Given the description of an element on the screen output the (x, y) to click on. 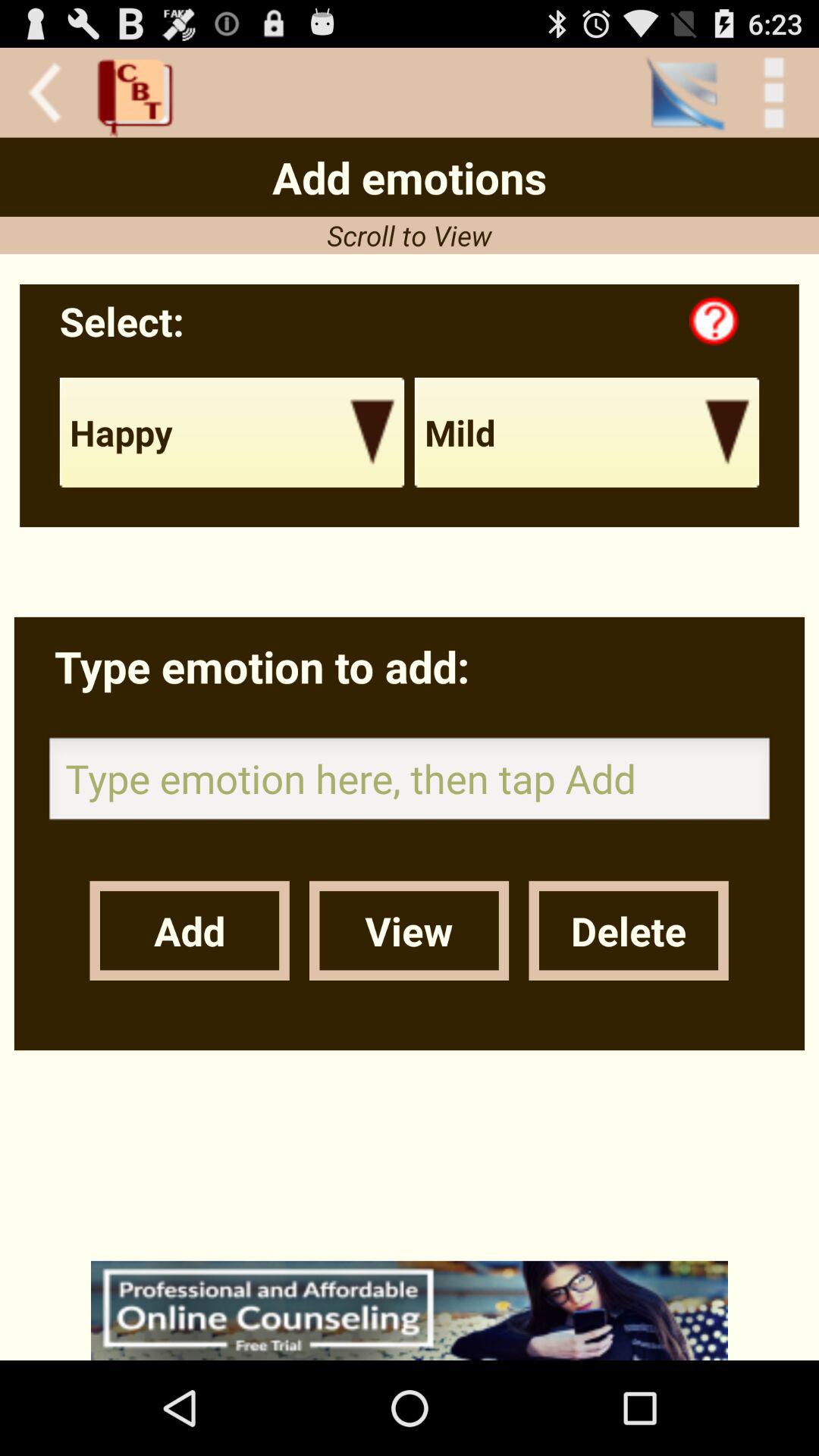
this is an advertisement (409, 1310)
